Given the description of an element on the screen output the (x, y) to click on. 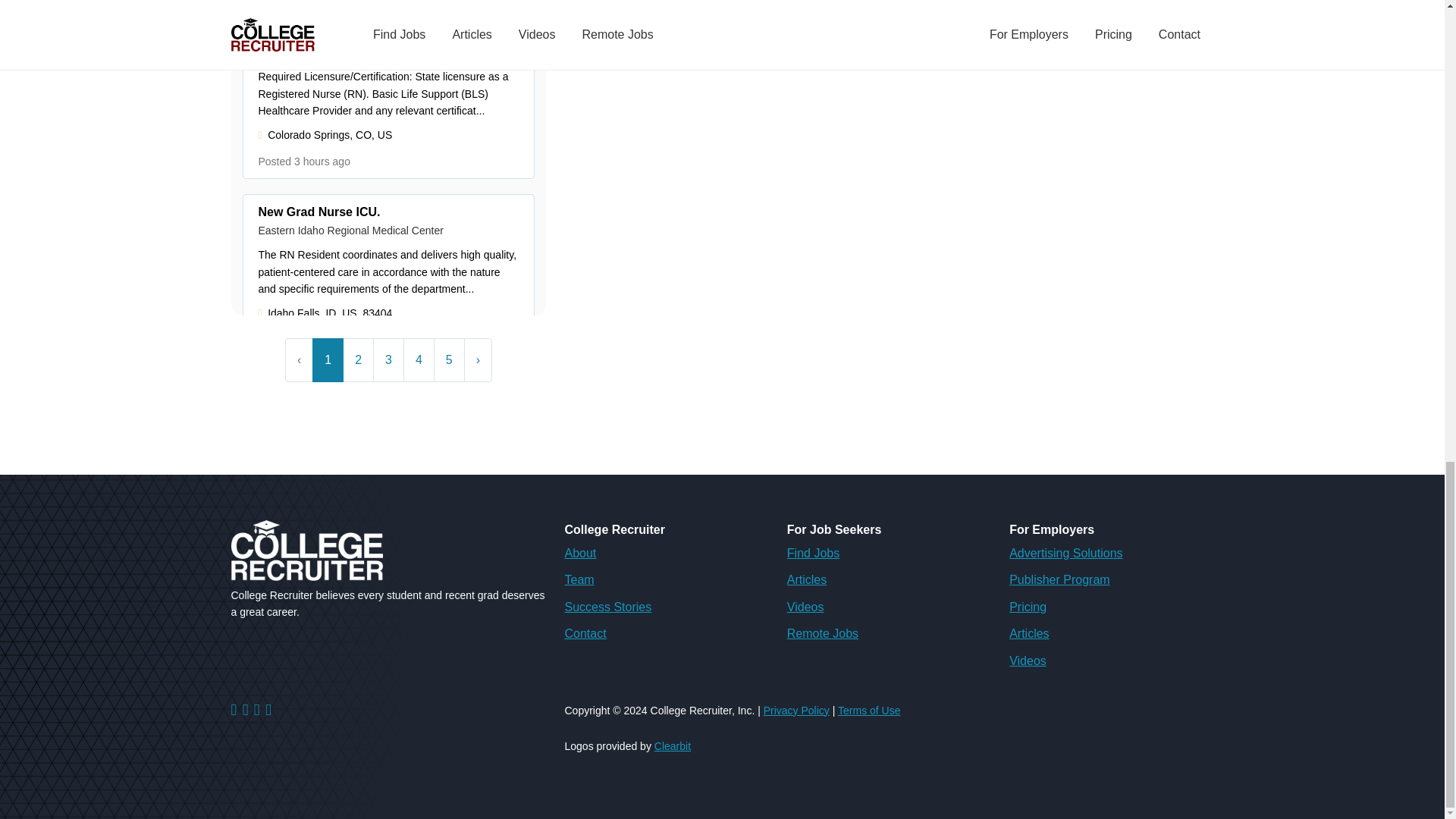
2 (358, 360)
4 (418, 360)
1 (328, 360)
3 (388, 360)
5 (448, 360)
